Given the description of an element on the screen output the (x, y) to click on. 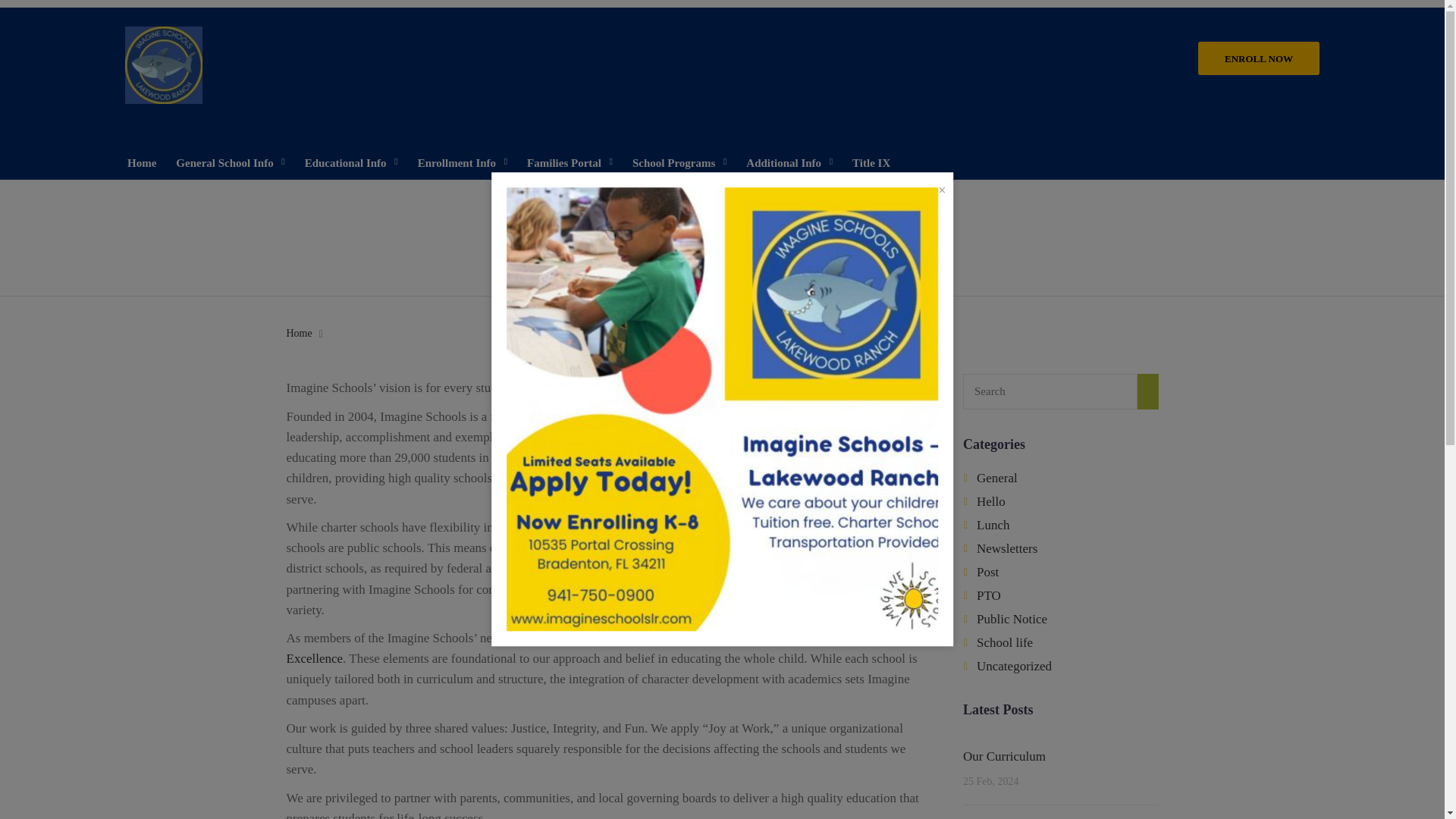
LakewoodRanch logo (163, 65)
Our Curriculum (1003, 756)
